Given the description of an element on the screen output the (x, y) to click on. 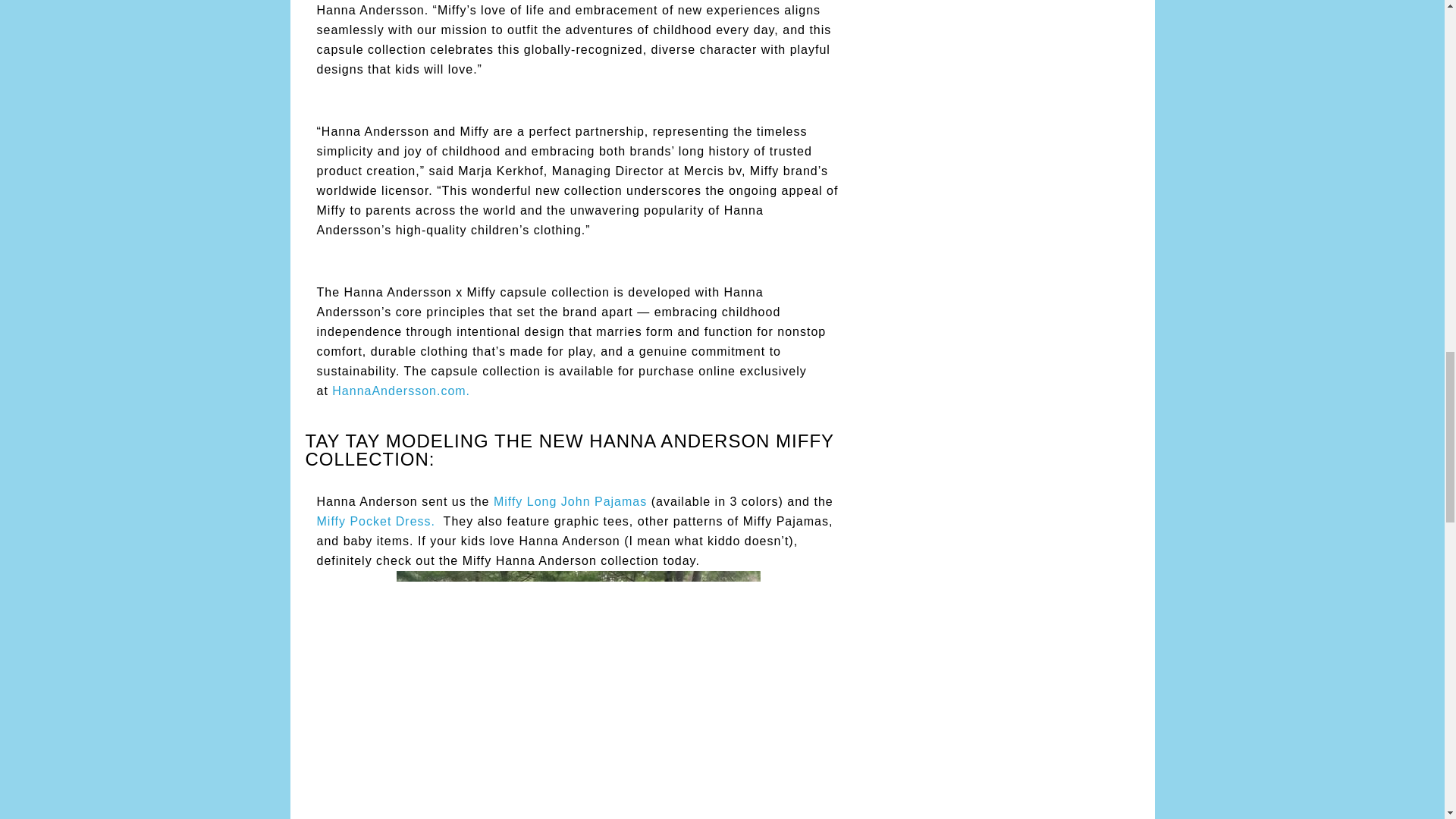
HannaAndersson.com. (400, 390)
Miffy Pocket Dress. (376, 521)
Miffy Long John Pajamas (569, 501)
